Given the description of an element on the screen output the (x, y) to click on. 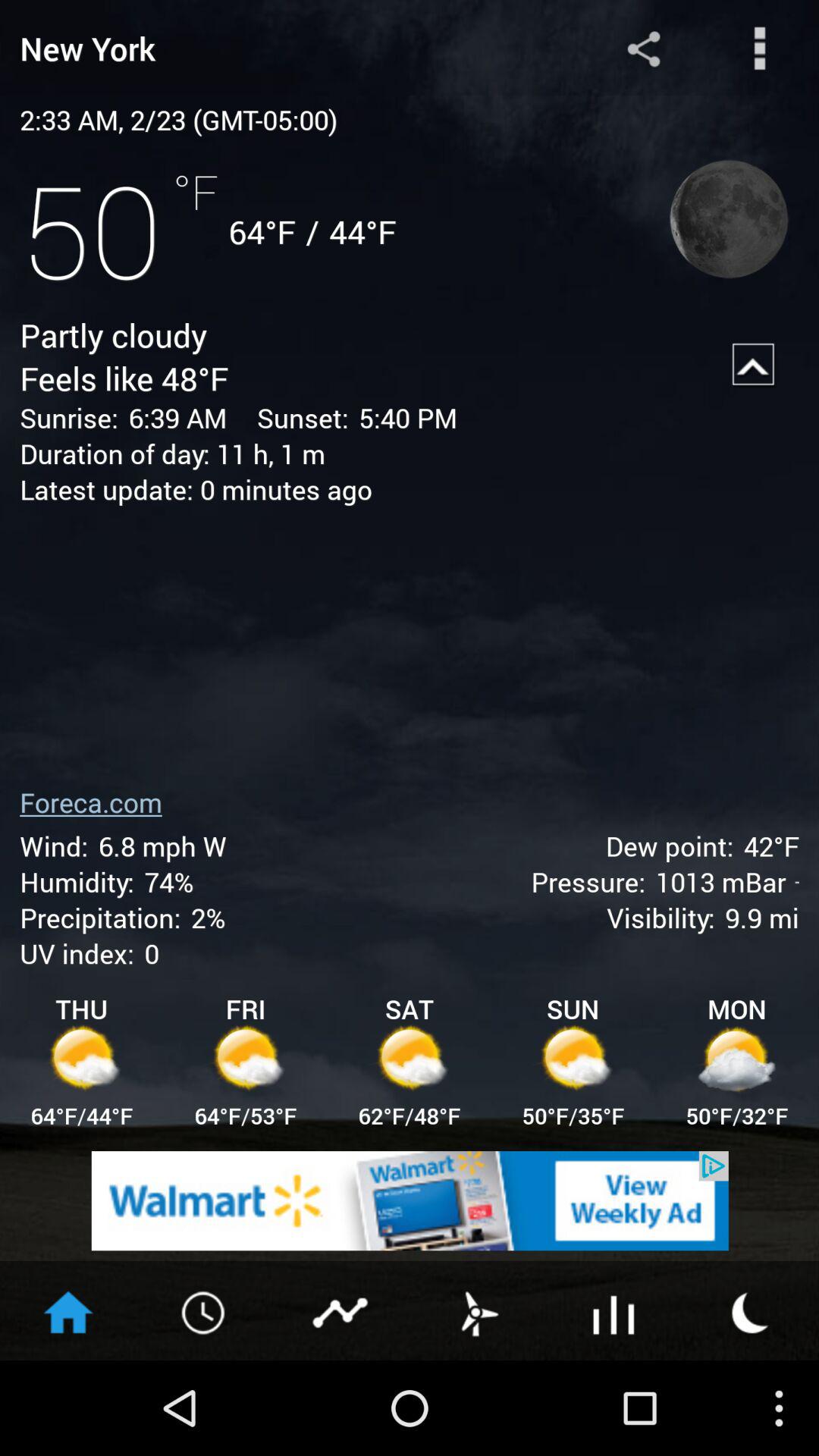
click on the second icon from right in the bottom row beside half moon symbol (614, 1310)
click on share icon (643, 48)
click the timer icon on the web page (204, 1310)
click on the icon below sat (409, 1060)
click on the icon on the right of clock symbol (340, 1310)
